Given the description of an element on the screen output the (x, y) to click on. 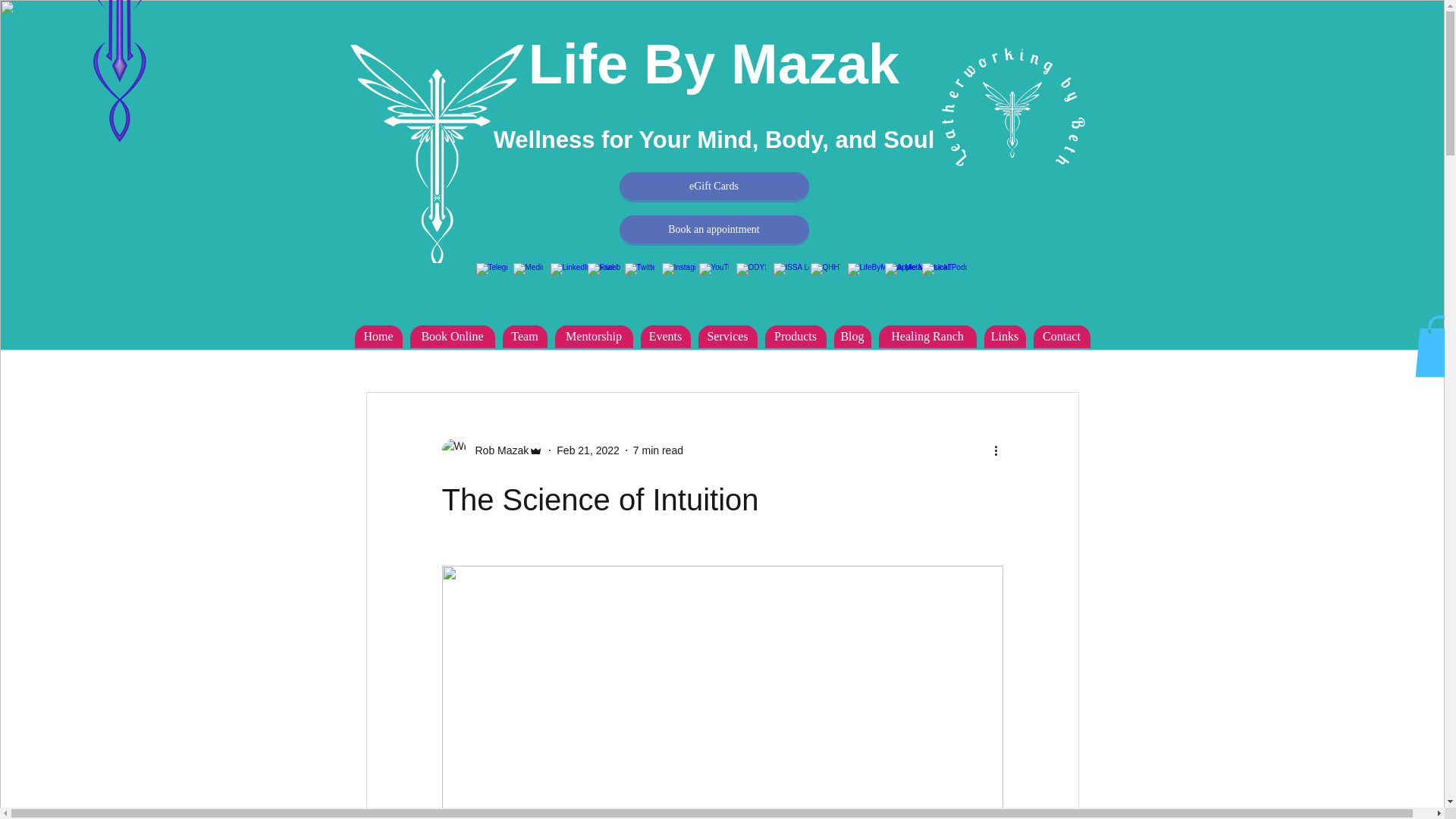
Links (1005, 336)
7 min read (657, 450)
Mentorship (593, 336)
Contact (1060, 336)
Team (524, 336)
Rob Mazak (492, 450)
Services (727, 336)
Events (665, 336)
Book an appointment (713, 229)
Rob Mazak (496, 450)
